Given the description of an element on the screen output the (x, y) to click on. 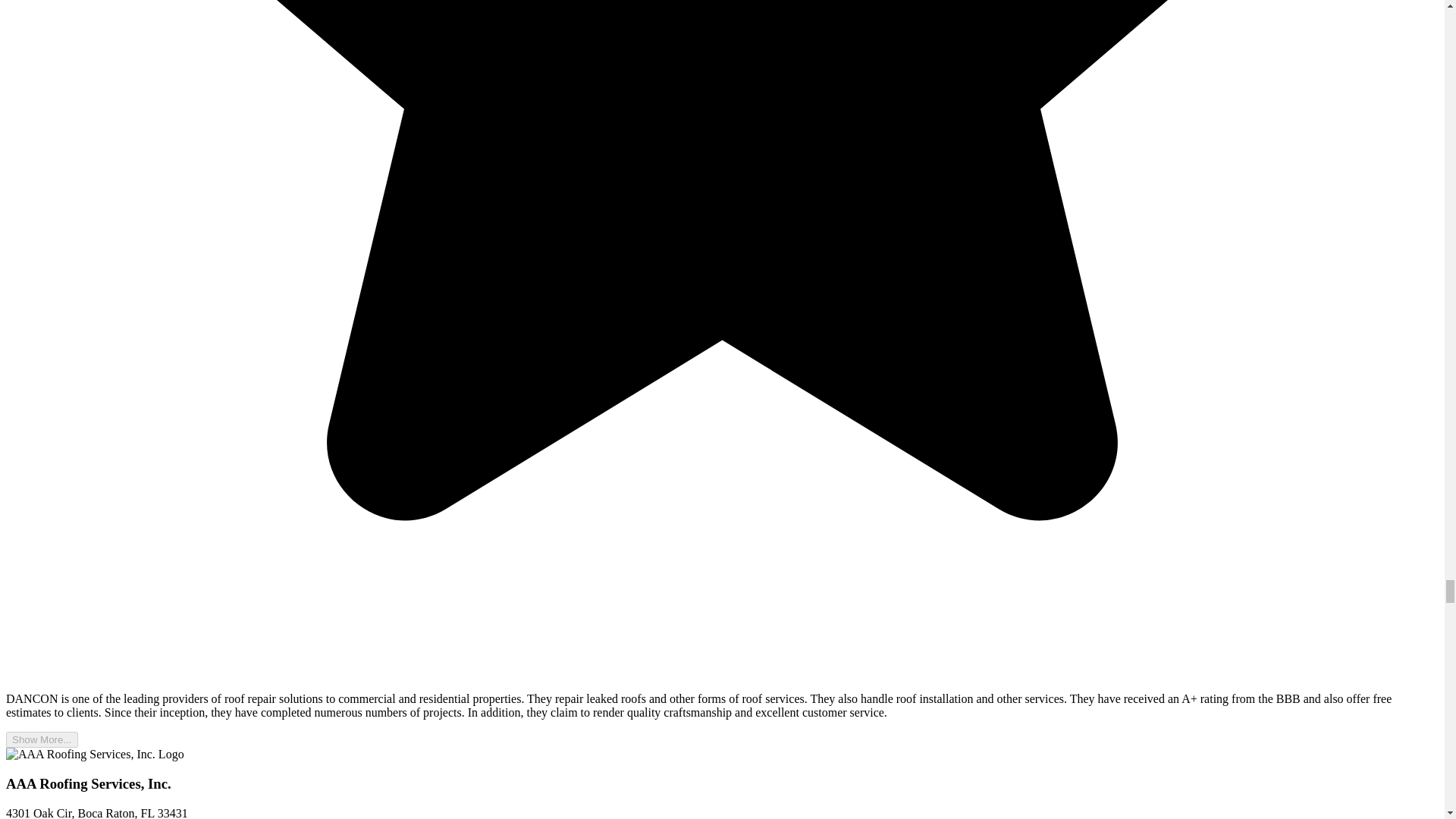
Show More... (41, 739)
